Given the description of an element on the screen output the (x, y) to click on. 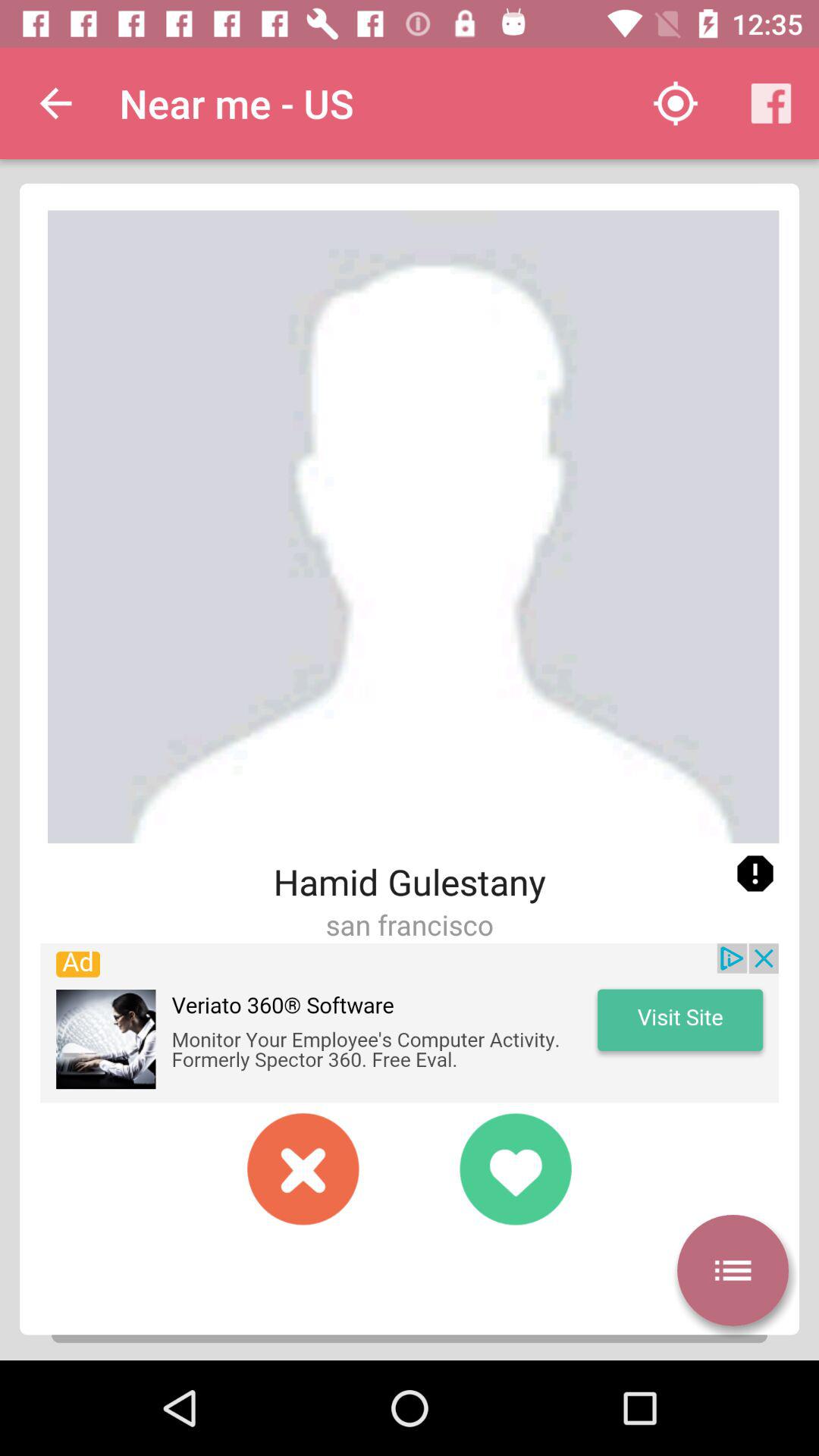
go to manu (733, 1270)
